Given the description of an element on the screen output the (x, y) to click on. 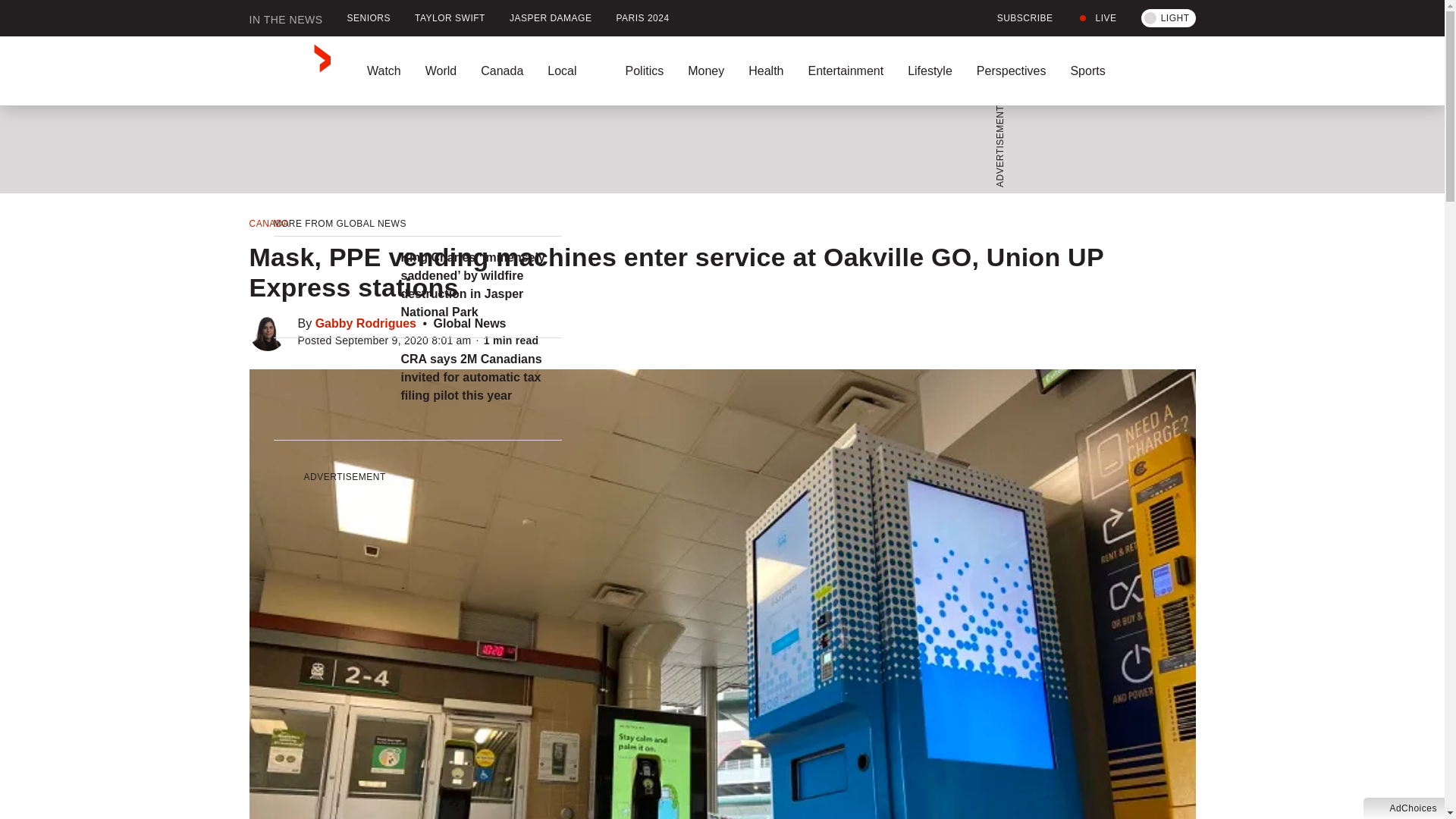
LIVE (1096, 18)
TAYLOR SWIFT (450, 18)
GlobalNews home (289, 70)
Posts by Gabby Rodrigues (365, 323)
SUBSCRIBE (1015, 18)
Lifestyle (929, 70)
Politics (643, 70)
Local (573, 70)
Entertainment (844, 70)
SENIORS (368, 18)
Canada (501, 70)
Perspectives (1010, 70)
JASPER DAMAGE (550, 18)
